Given the description of an element on the screen output the (x, y) to click on. 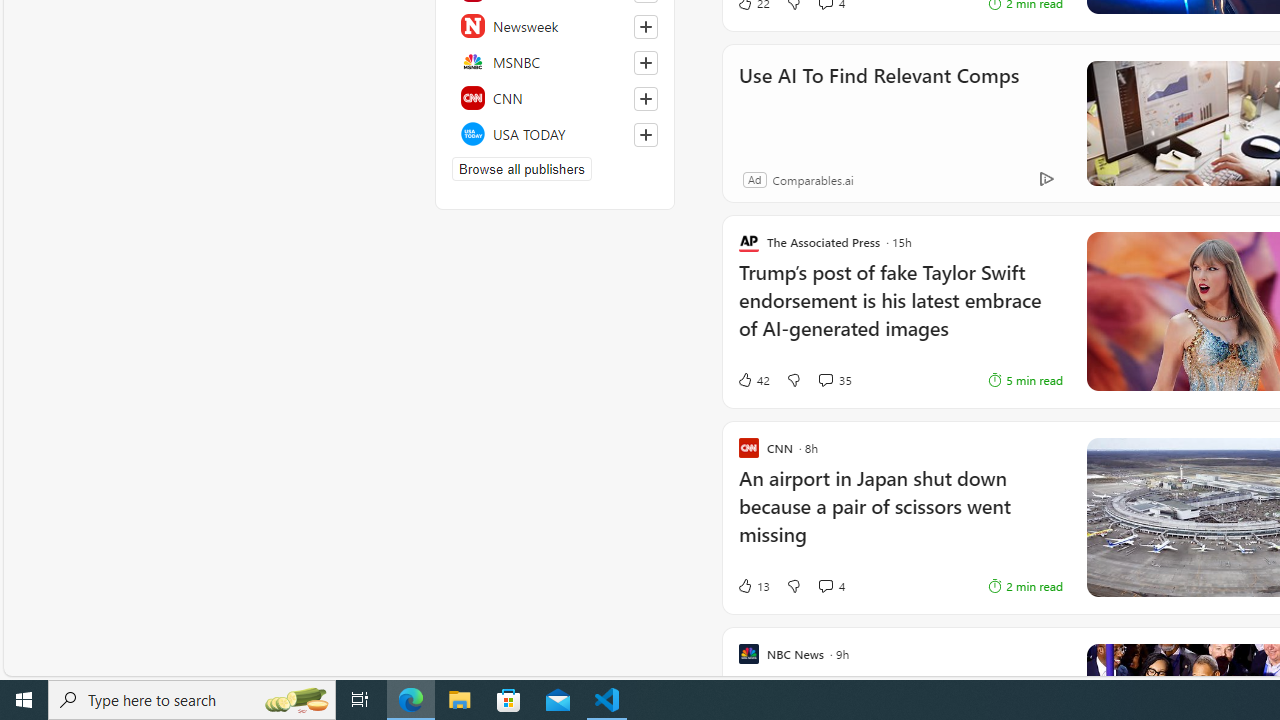
Follow this source (645, 134)
Newsweek (555, 25)
MSNBC (555, 61)
Browse all publishers (521, 168)
View comments 35 Comment (834, 379)
View comments 4 Comment (825, 586)
Follow this source (645, 134)
